Given the description of an element on the screen output the (x, y) to click on. 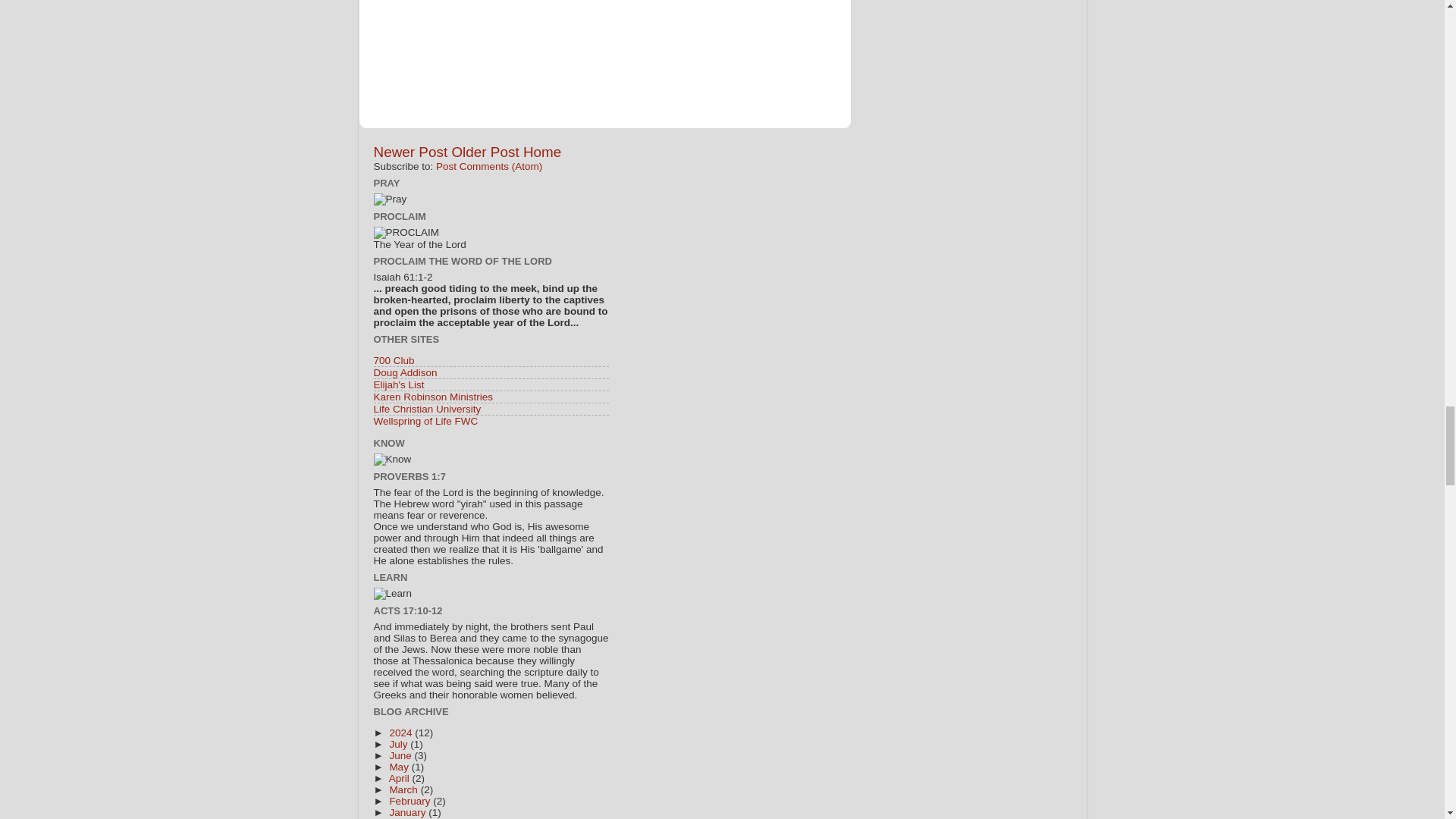
Home (541, 151)
Older Post (484, 151)
Life Christian University (426, 408)
700 Club (392, 360)
April (400, 778)
2024 (401, 732)
Newer Post (409, 151)
Karen Robinson Ministries (432, 396)
July (399, 744)
March (404, 789)
May (399, 767)
Doug Addison (404, 372)
Newer Post (409, 151)
June (400, 755)
Elijah's List (397, 384)
